Given the description of an element on the screen output the (x, y) to click on. 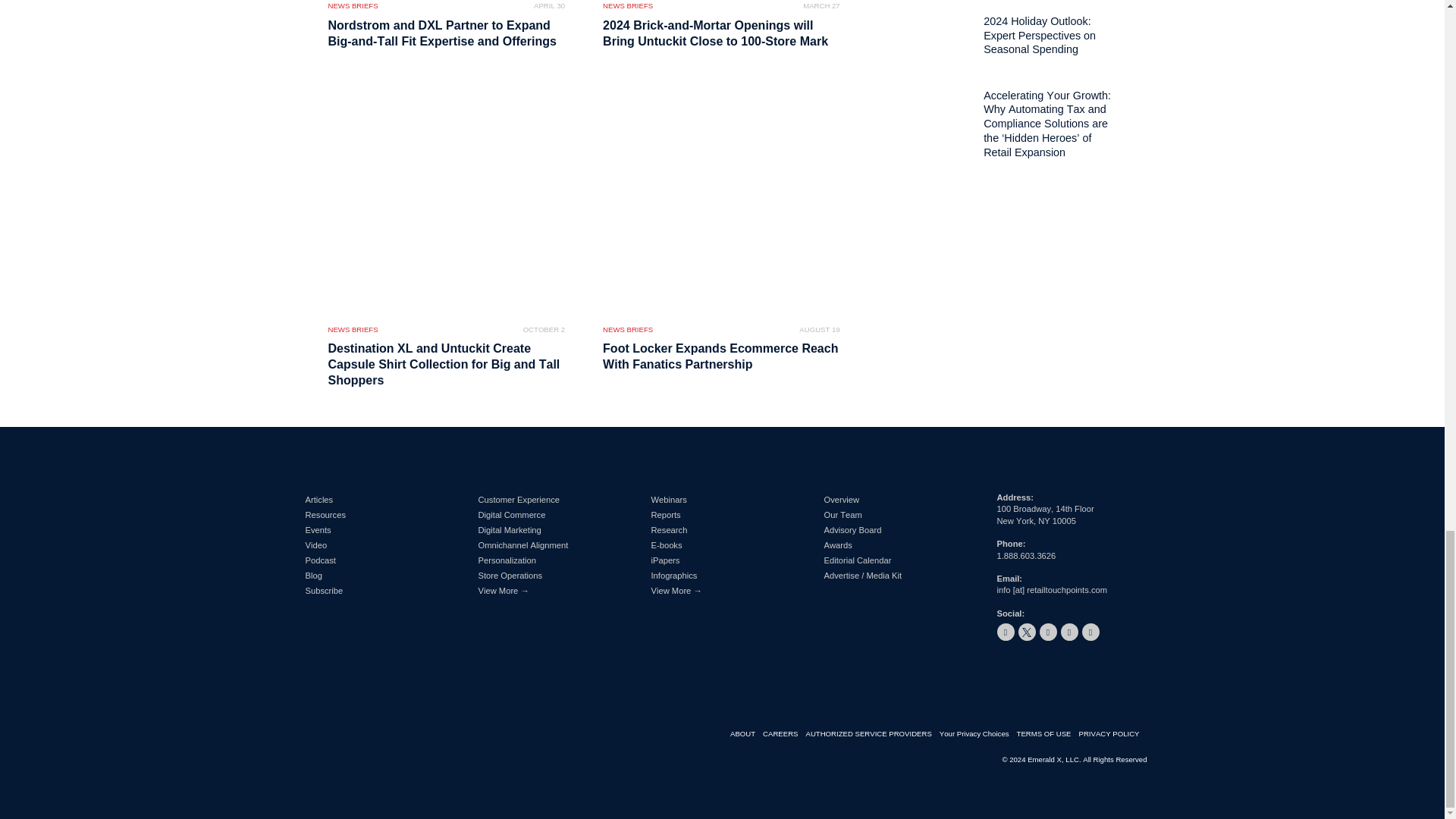
about (746, 733)
privacy-policy (1112, 733)
terms-of-use (1047, 733)
careers (783, 733)
authorized-service-providers (872, 733)
your-privacy-choices (977, 733)
